Given the description of an element on the screen output the (x, y) to click on. 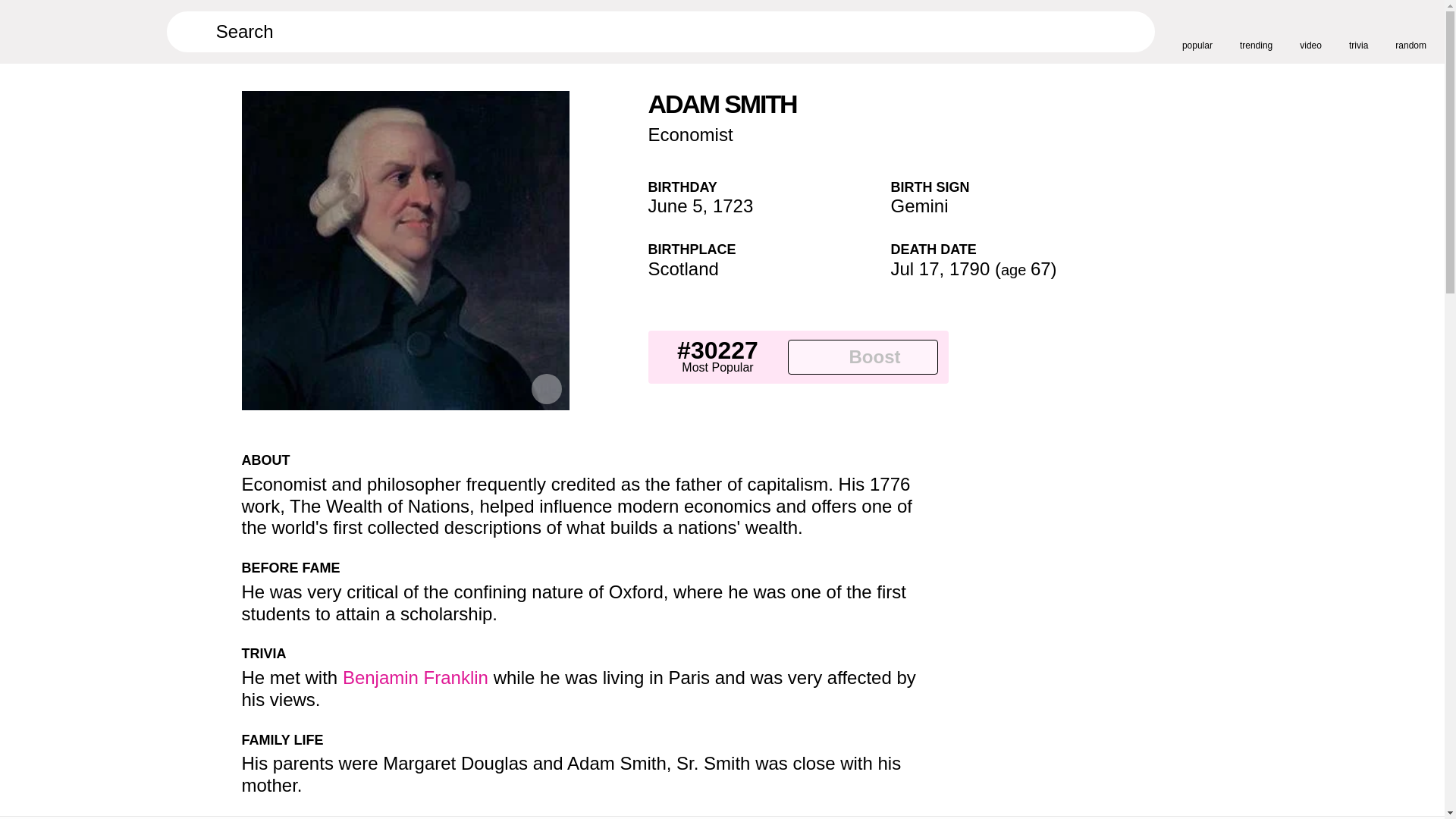
Boost (862, 356)
Gemini (918, 205)
1723 (732, 205)
Economist (689, 134)
Jul 17 (914, 268)
1790 (969, 268)
June 5 (674, 205)
Benjamin Franklin (414, 677)
age 67 (1026, 268)
Scotland (682, 268)
